Given the description of an element on the screen output the (x, y) to click on. 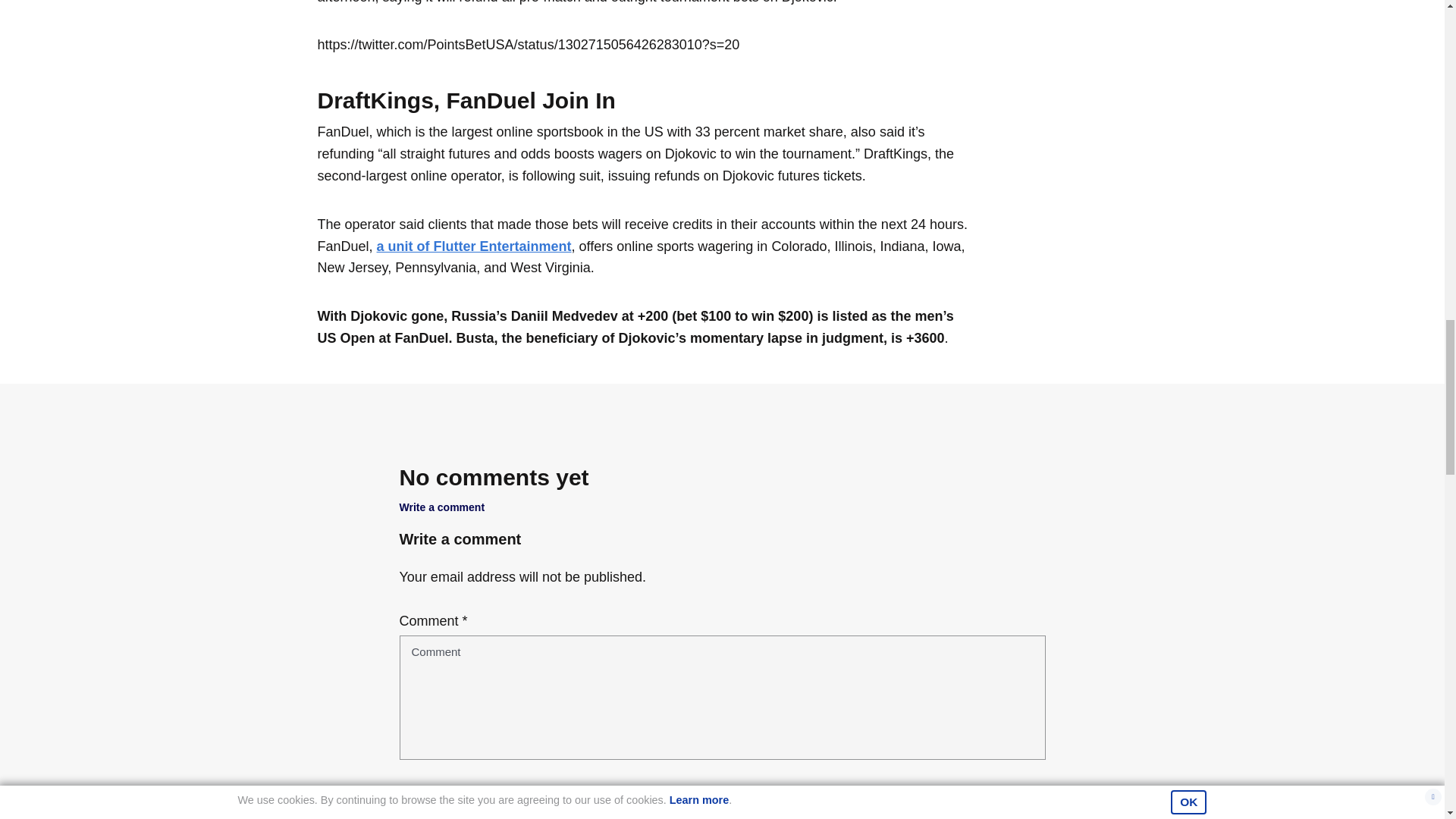
a unit of Flutter Entertainment (474, 246)
